Given the description of an element on the screen output the (x, y) to click on. 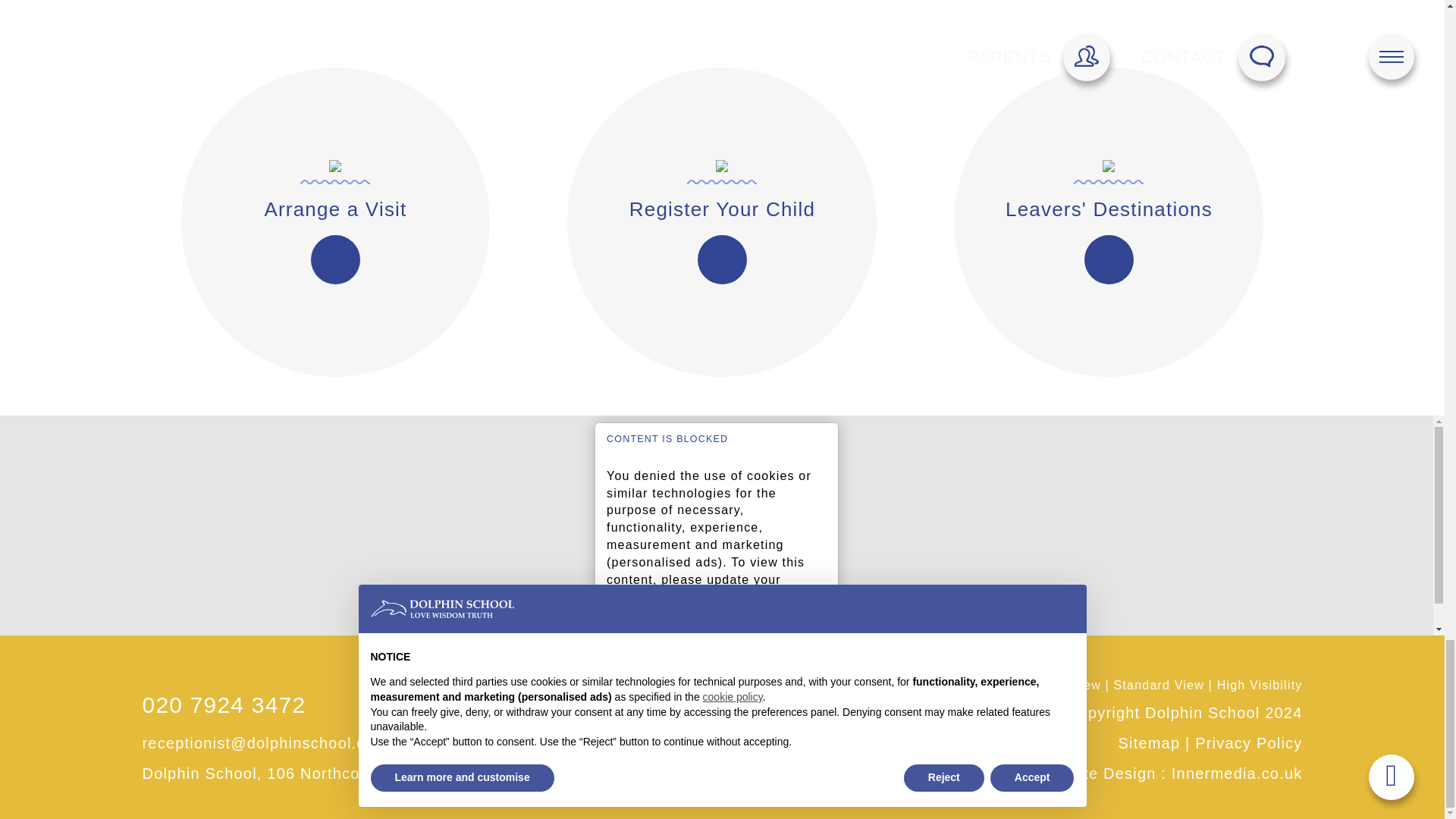
Switch to High Visibility (1260, 684)
Switch to Print (1068, 684)
Switch to Standard Visibility (1158, 684)
